Given the description of an element on the screen output the (x, y) to click on. 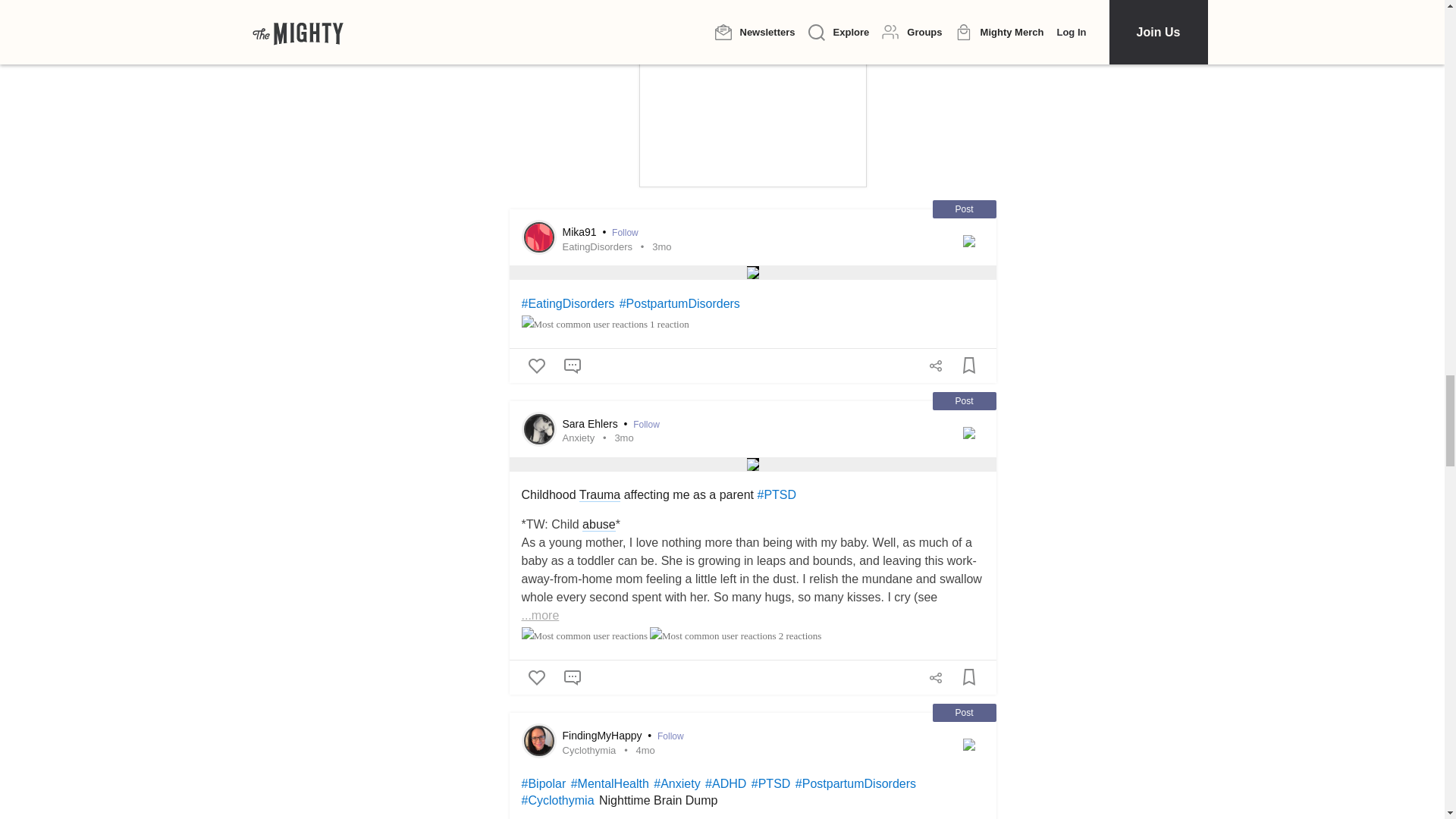
Postpartum Disorders (679, 304)
Visit Mika91's profile (537, 236)
April 15, 2024 (661, 246)
Eating Disorders (567, 304)
Visit Sara Ehlers's profile (537, 429)
April 9, 2024 (623, 437)
